Given the description of an element on the screen output the (x, y) to click on. 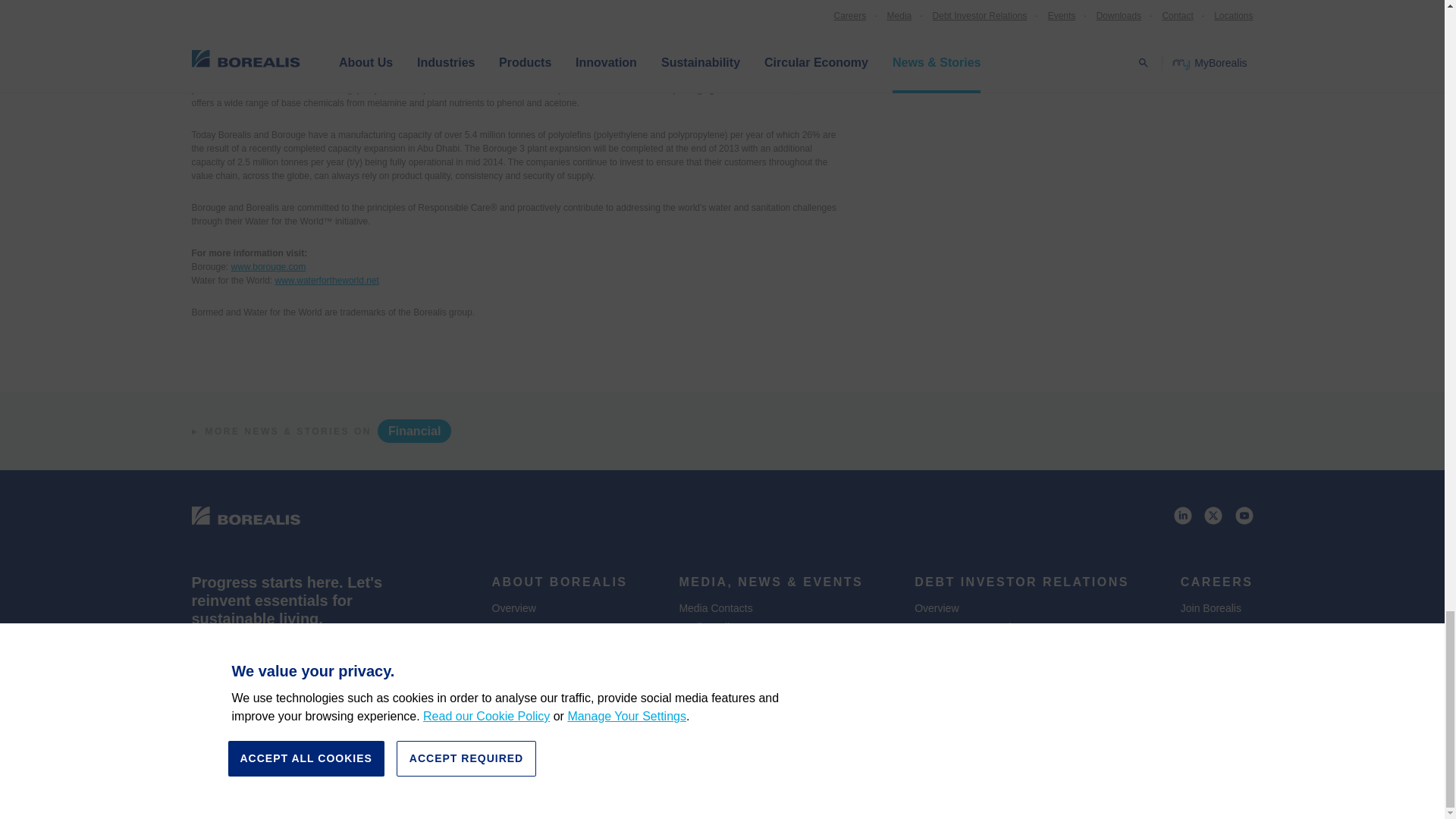
LinkedIn (1182, 517)
Twitter (1213, 517)
www.waterfortheworld.net (326, 280)
www.borouge.com (268, 266)
YouTube (1243, 517)
Financial (414, 431)
